Given the description of an element on the screen output the (x, y) to click on. 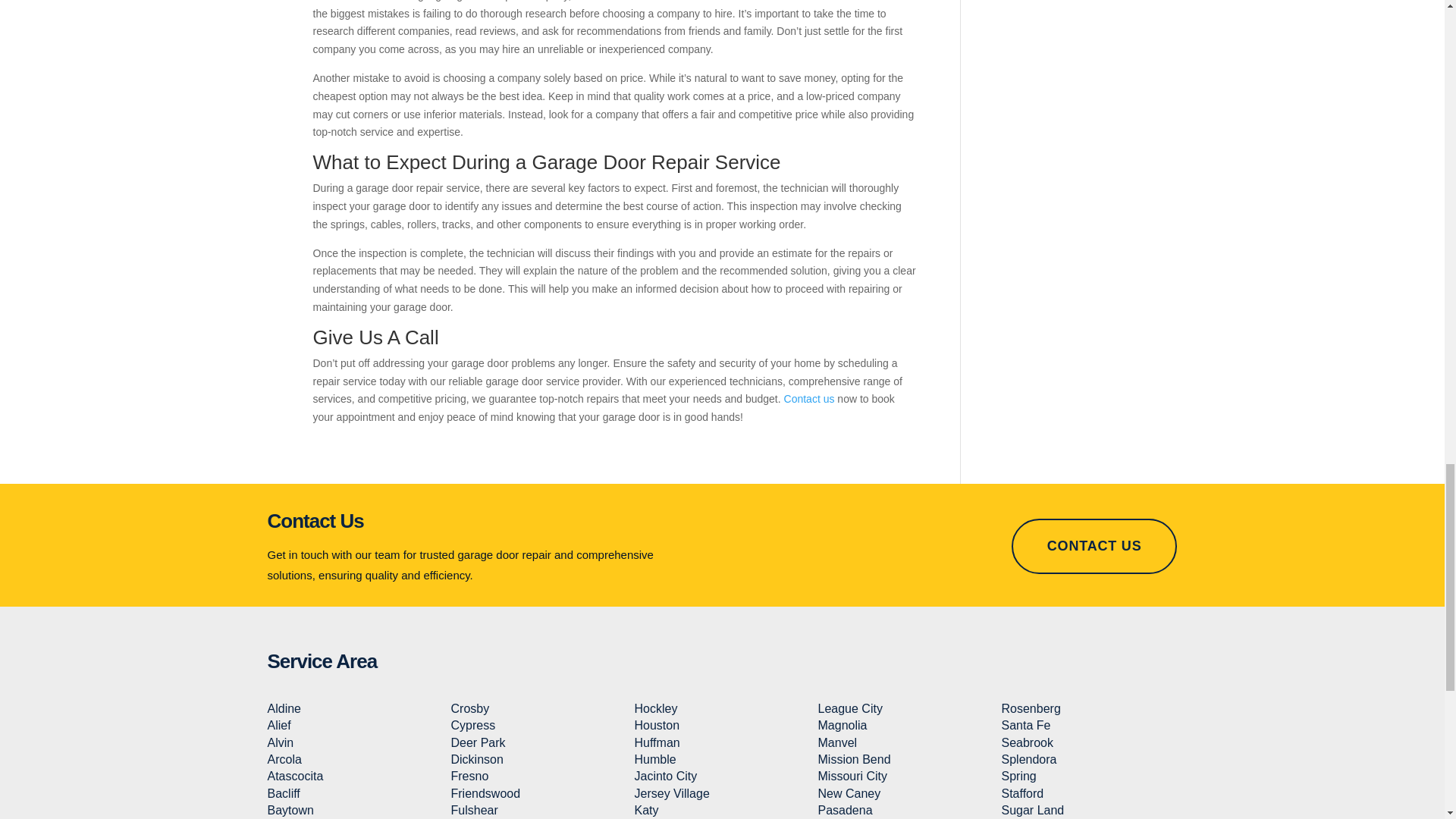
Cypress (472, 725)
Baytown (289, 809)
Atascocita (294, 775)
CONTACT US (1094, 546)
Bacliff (282, 793)
Dickinson (475, 758)
Fresno (468, 775)
Deer Park (477, 742)
Aldine (282, 707)
Alvin (280, 742)
